Given the description of an element on the screen output the (x, y) to click on. 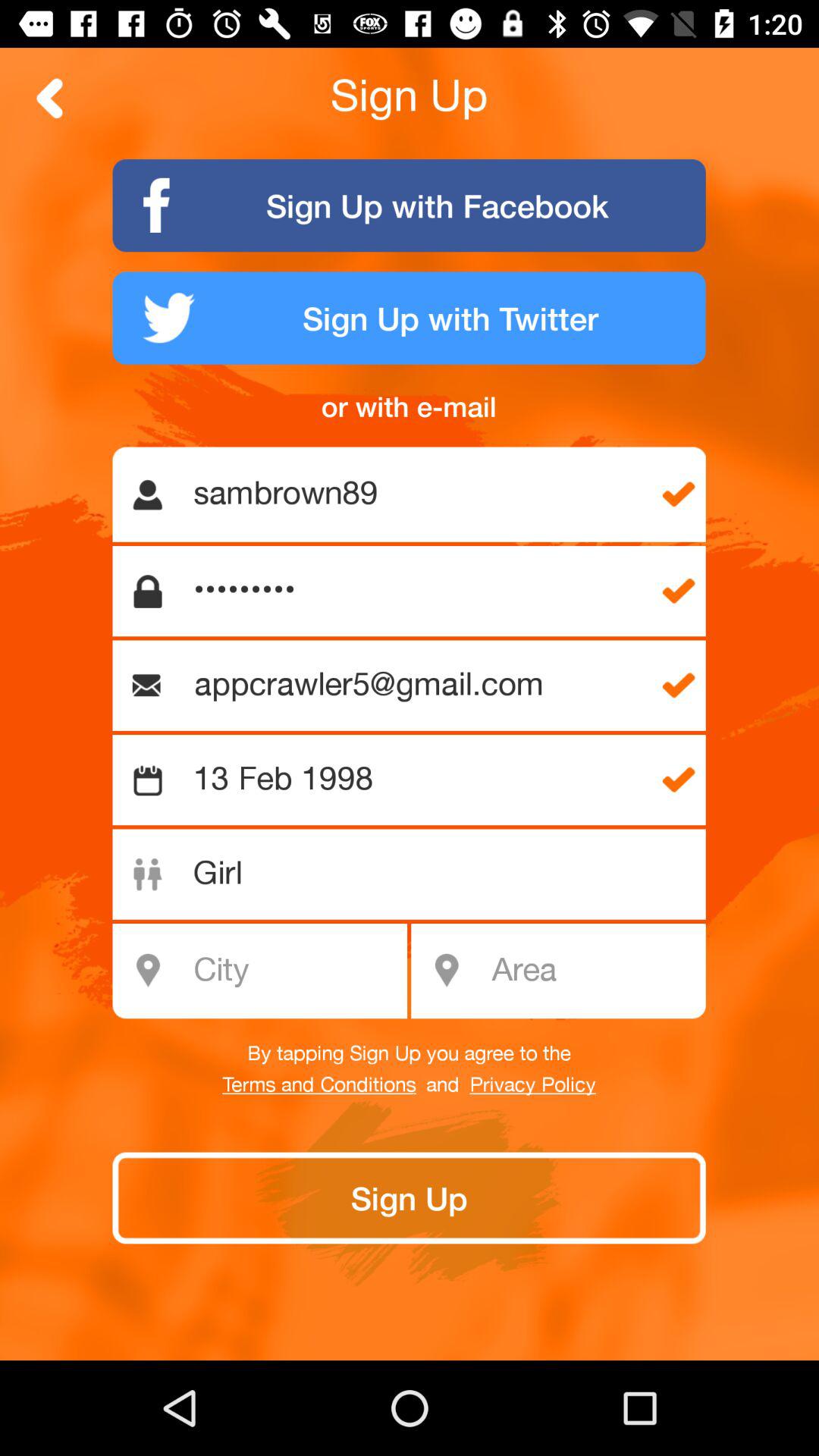
swipe until the girl (417, 874)
